Given the description of an element on the screen output the (x, y) to click on. 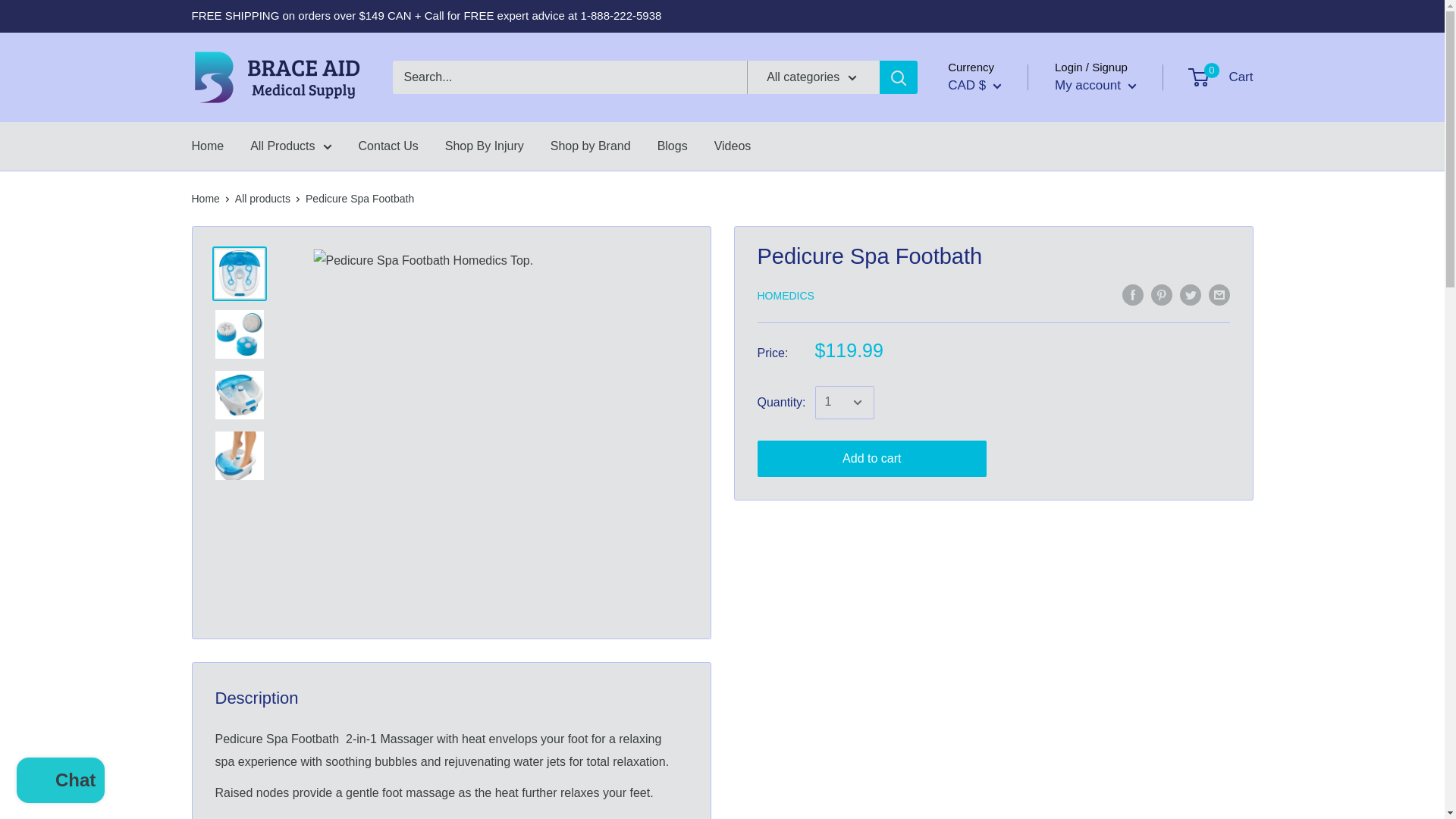
My account (1095, 85)
Shopify online store chat (60, 781)
USD (986, 149)
CAD (986, 126)
